Given the description of an element on the screen output the (x, y) to click on. 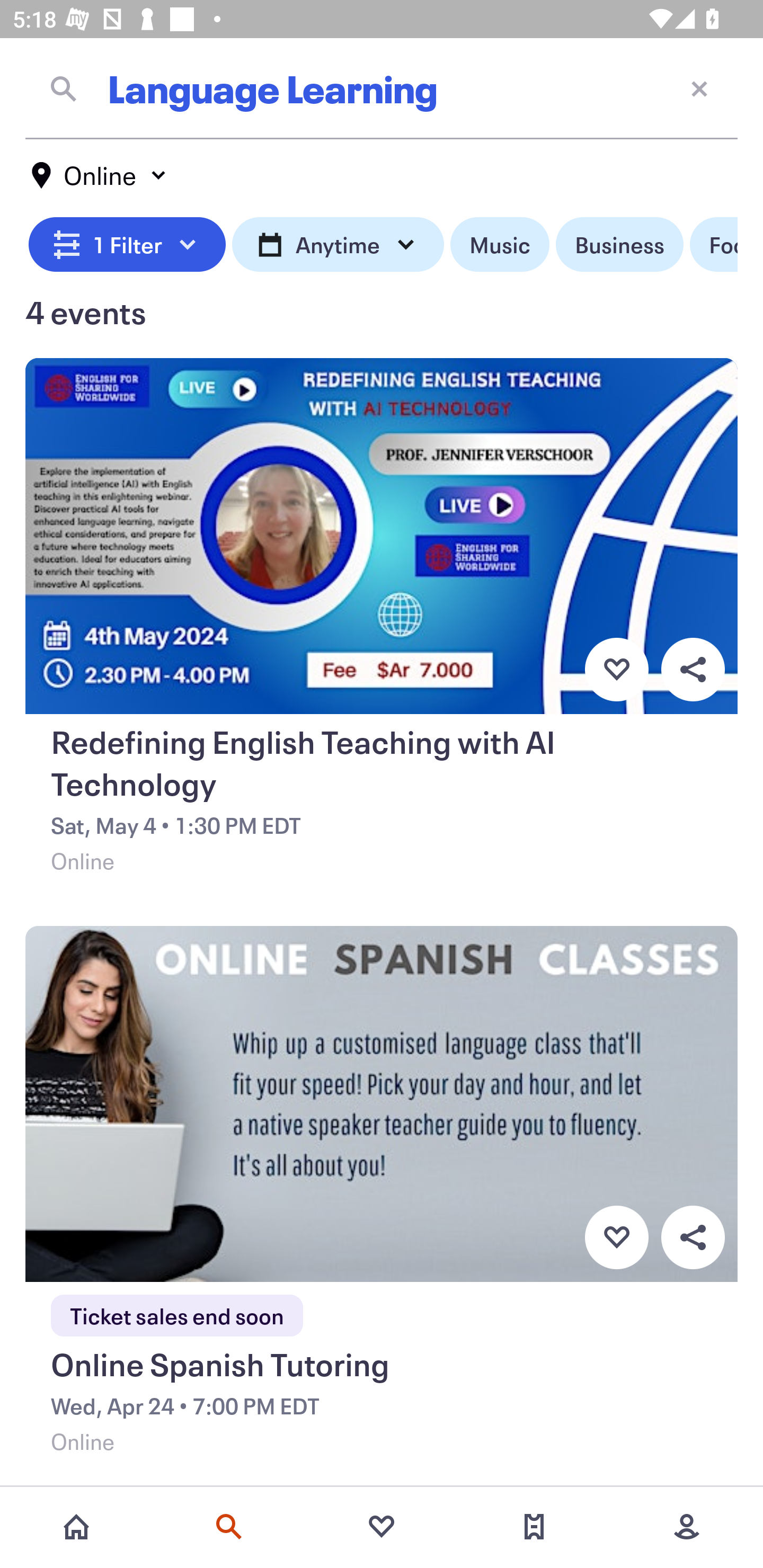
Language Learning Close current screen (381, 88)
Close current screen (699, 88)
Online (99, 175)
1 Filter (126, 244)
Anytime (337, 244)
Music (499, 244)
Business (619, 244)
Favorite button (616, 669)
Overflow menu button (692, 669)
Favorite button (616, 1237)
Overflow menu button (692, 1237)
Home (76, 1526)
Search events (228, 1526)
Favorites (381, 1526)
Tickets (533, 1526)
More (686, 1526)
